Given the description of an element on the screen output the (x, y) to click on. 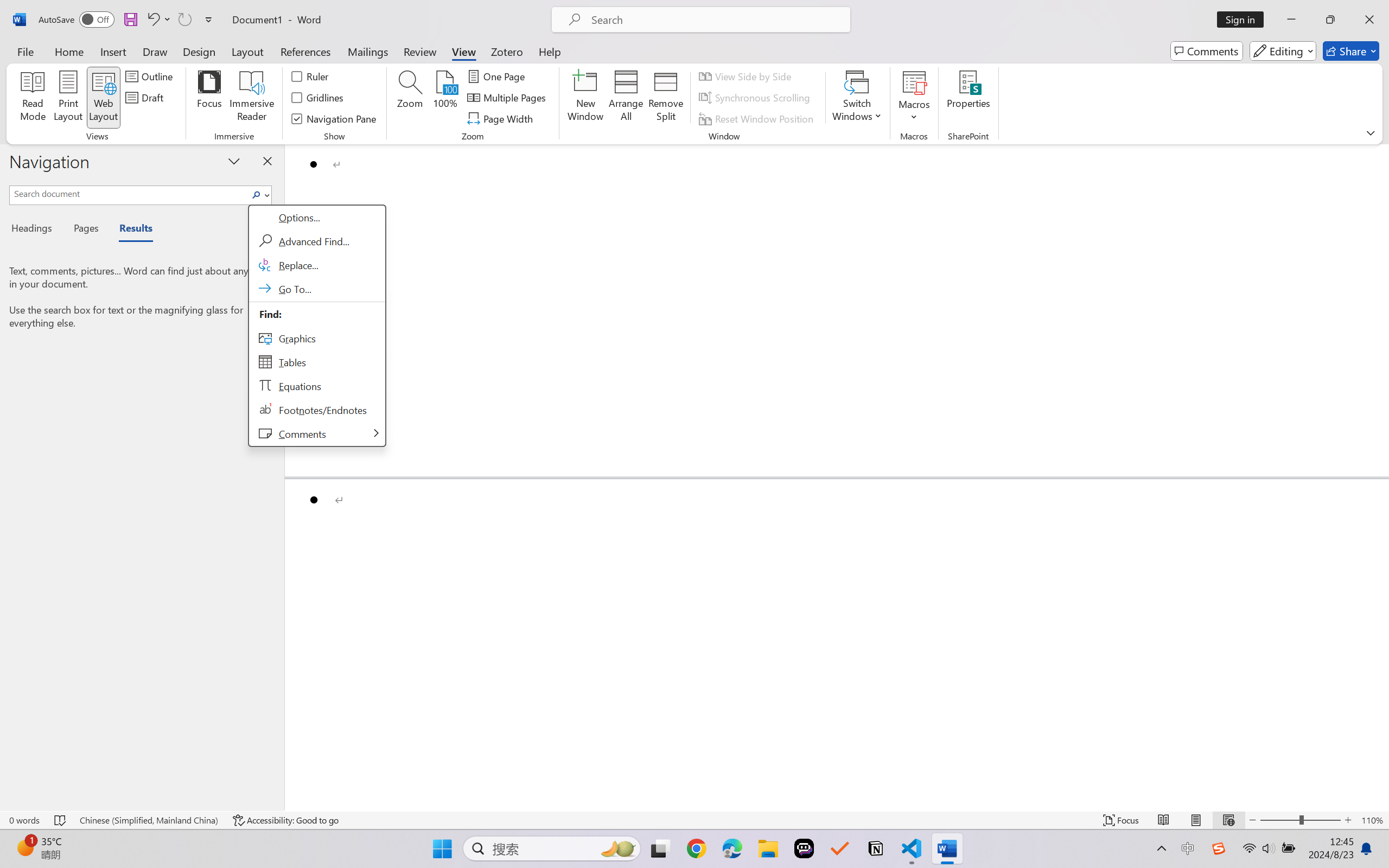
Microsoft Edge (731, 848)
Search document (128, 193)
Results (130, 229)
Outline (150, 75)
100% (445, 97)
Macros (914, 97)
